Given the description of an element on the screen output the (x, y) to click on. 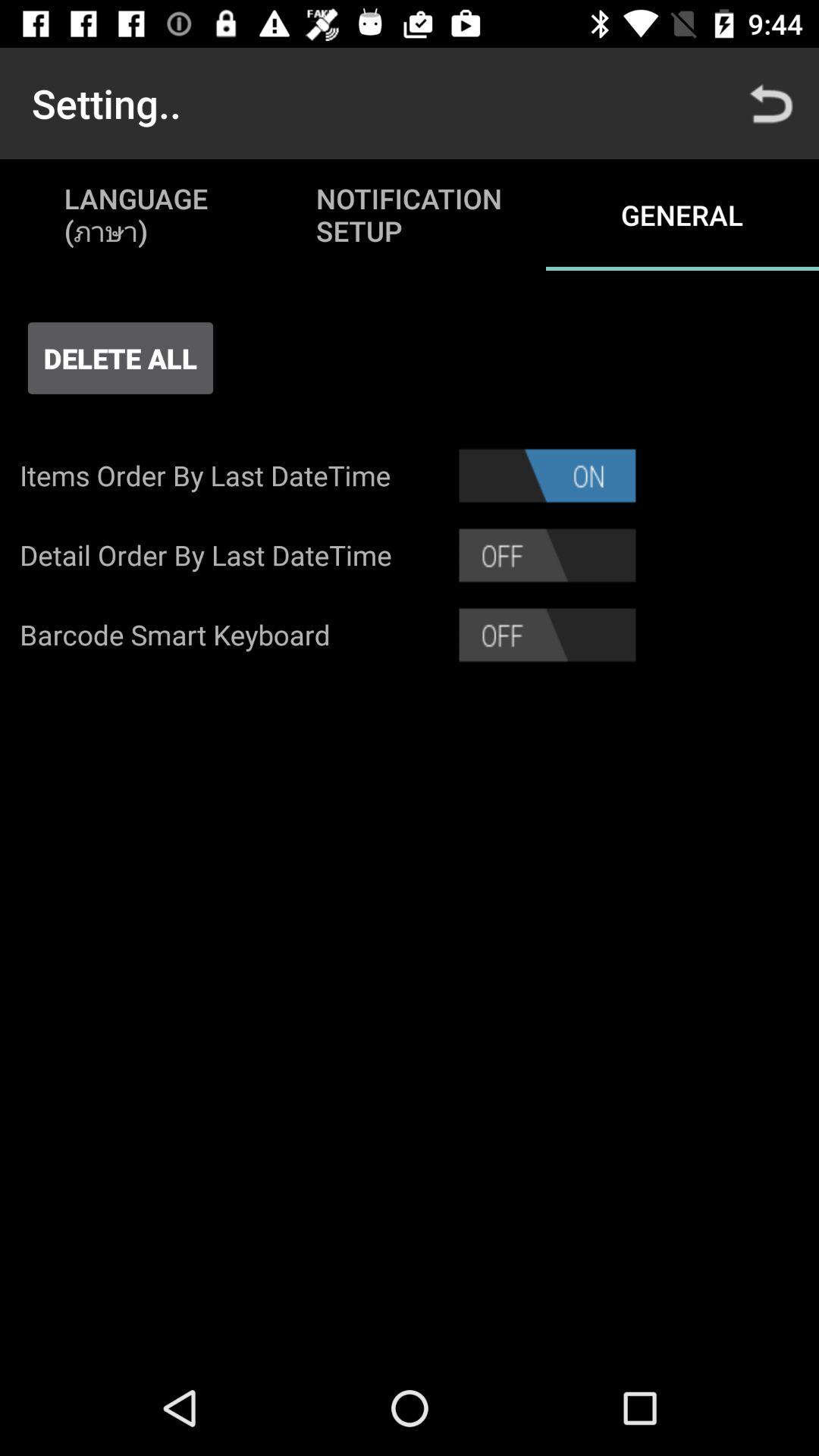
toggle items order by last datetime (547, 475)
